Given the description of an element on the screen output the (x, y) to click on. 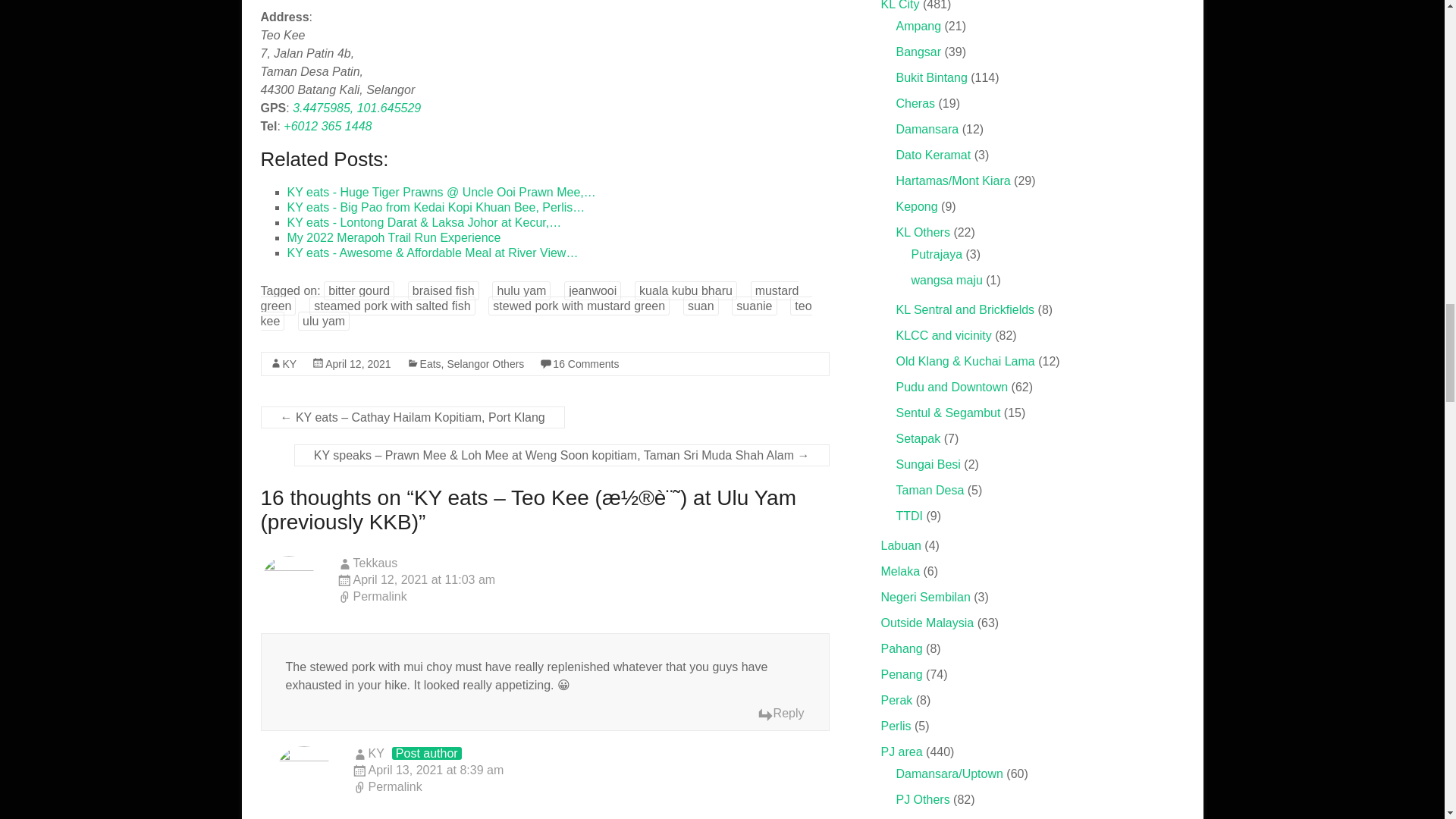
hulu yam (521, 290)
mustard green (529, 298)
braised fish (443, 290)
My 2022 Merapoh Trail Run Experience (393, 237)
kuala kubu bharu (685, 290)
suan (700, 305)
jeanwooi (592, 290)
stewed pork with mustard green (578, 305)
steamed pork with salted fish (391, 305)
bitter gourd (358, 290)
3.4475985, 101.645529 (356, 107)
8:59 am (357, 363)
